Given the description of an element on the screen output the (x, y) to click on. 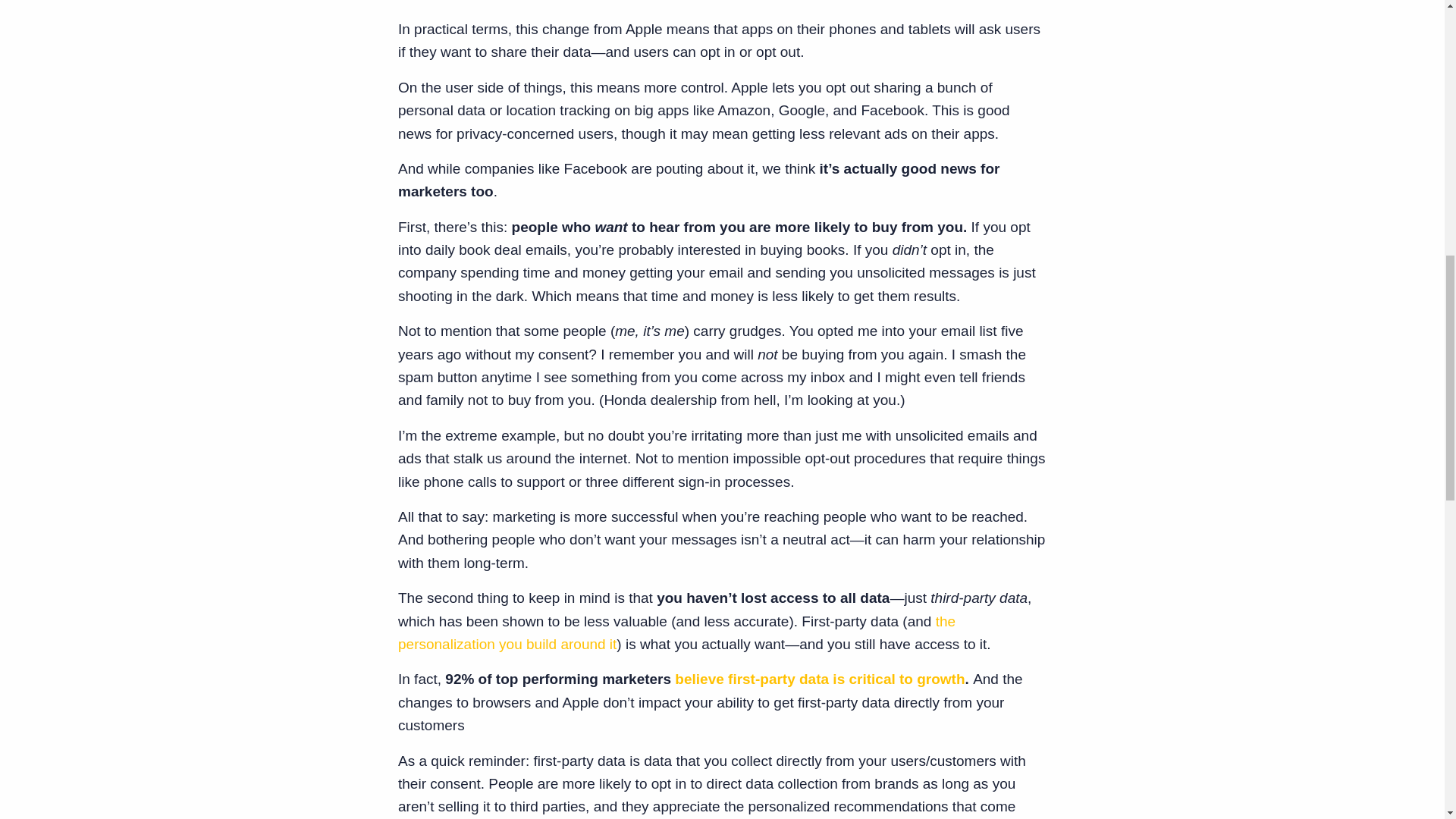
believe first-party data is critical to growth (819, 678)
the personalization you build around it (676, 632)
